Given the description of an element on the screen output the (x, y) to click on. 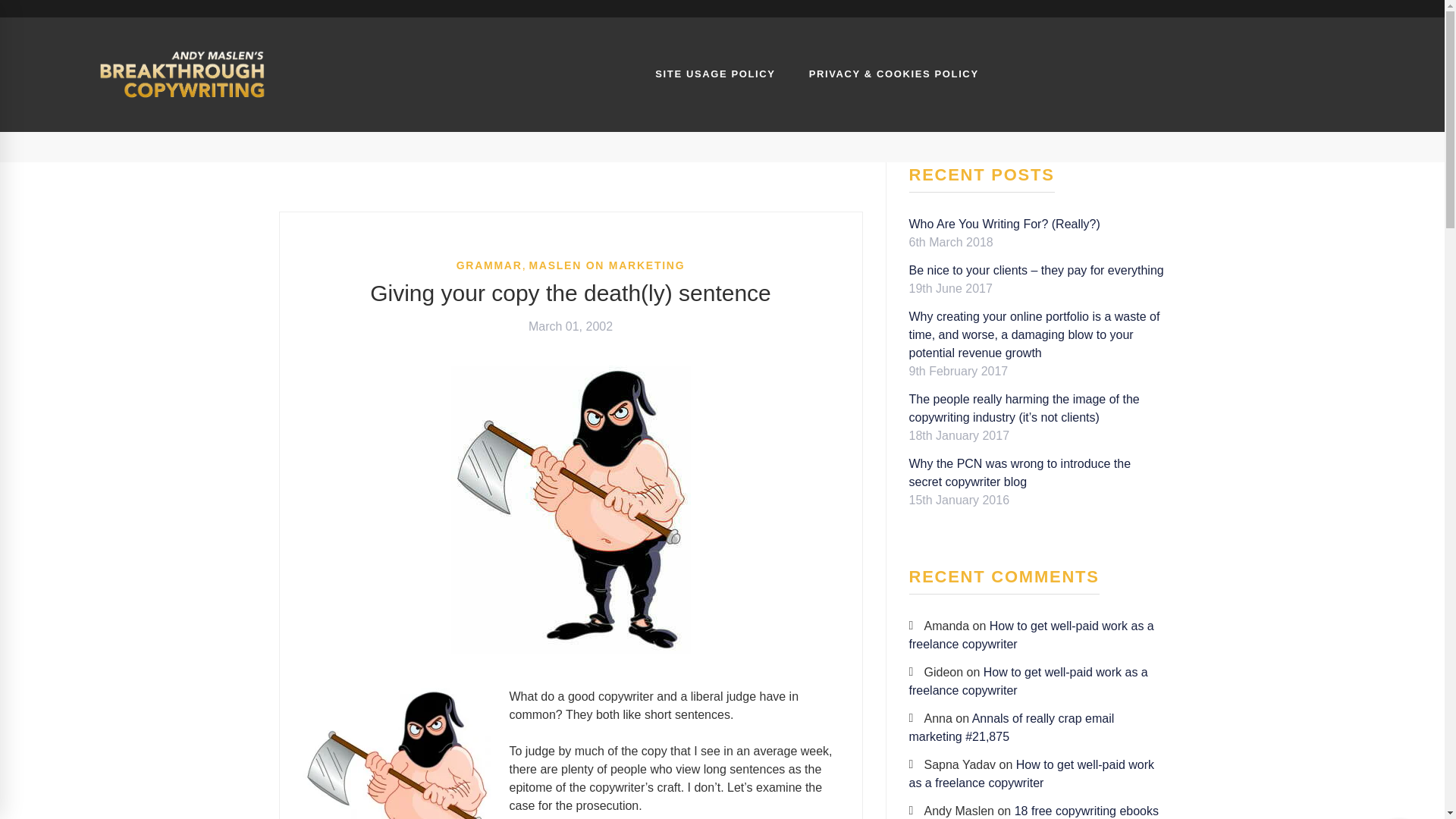
How to get well-paid work as a freelance copywriter (1031, 773)
How to get well-paid work as a freelance copywriter (1027, 680)
SITE USAGE POLICY (715, 74)
18 free copywriting ebooks (1086, 810)
Executioner (395, 753)
How to get well-paid work as a freelance copywriter (1030, 634)
MASLEN ON MARKETING (606, 265)
GRAMMAR (489, 265)
